Given the description of an element on the screen output the (x, y) to click on. 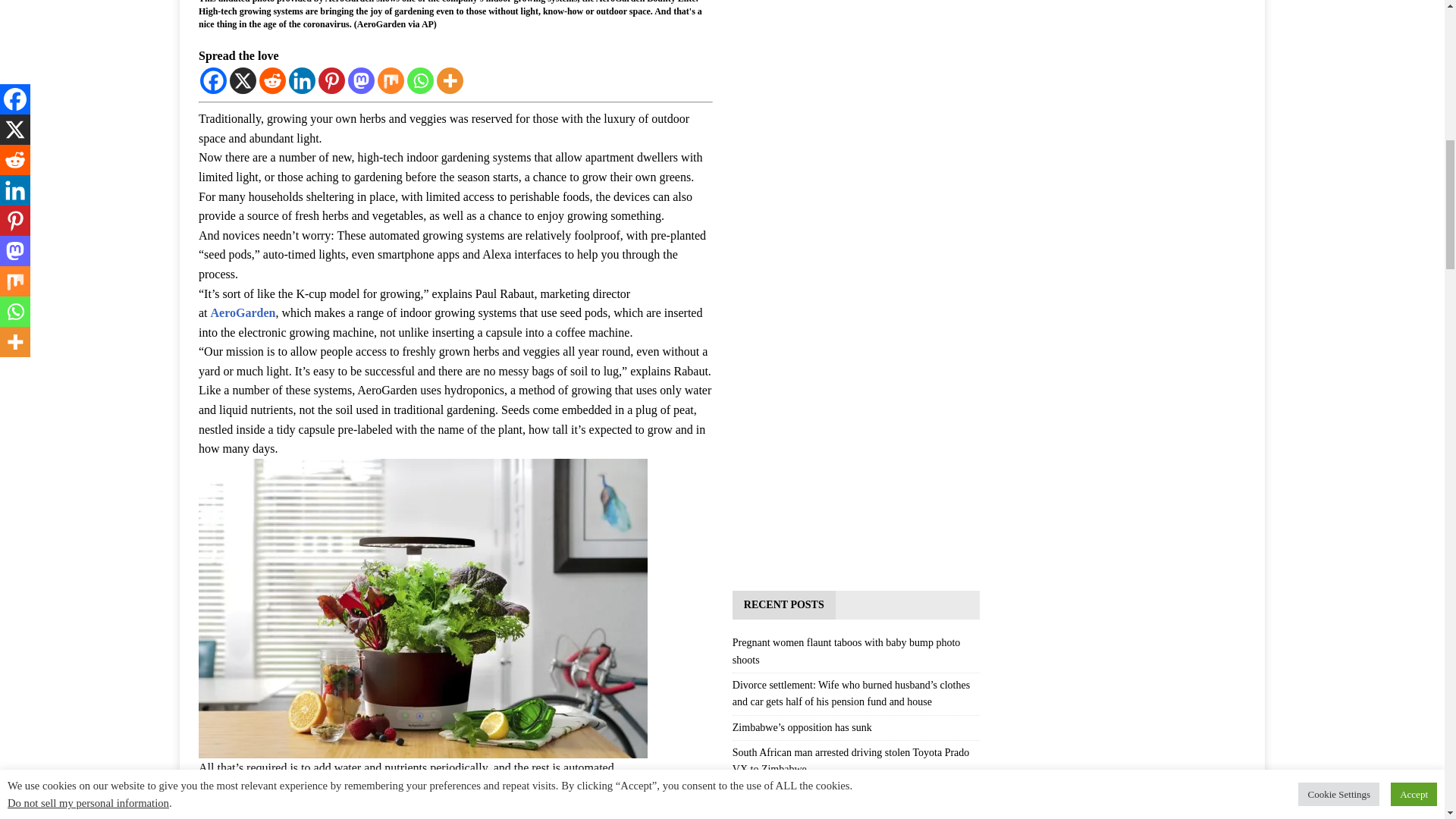
Mix (390, 80)
X (243, 80)
Facebook (213, 80)
Pinterest (331, 80)
Reddit (272, 80)
Whatsapp (420, 80)
Linkedin (301, 80)
Mastodon (360, 80)
